Given the description of an element on the screen output the (x, y) to click on. 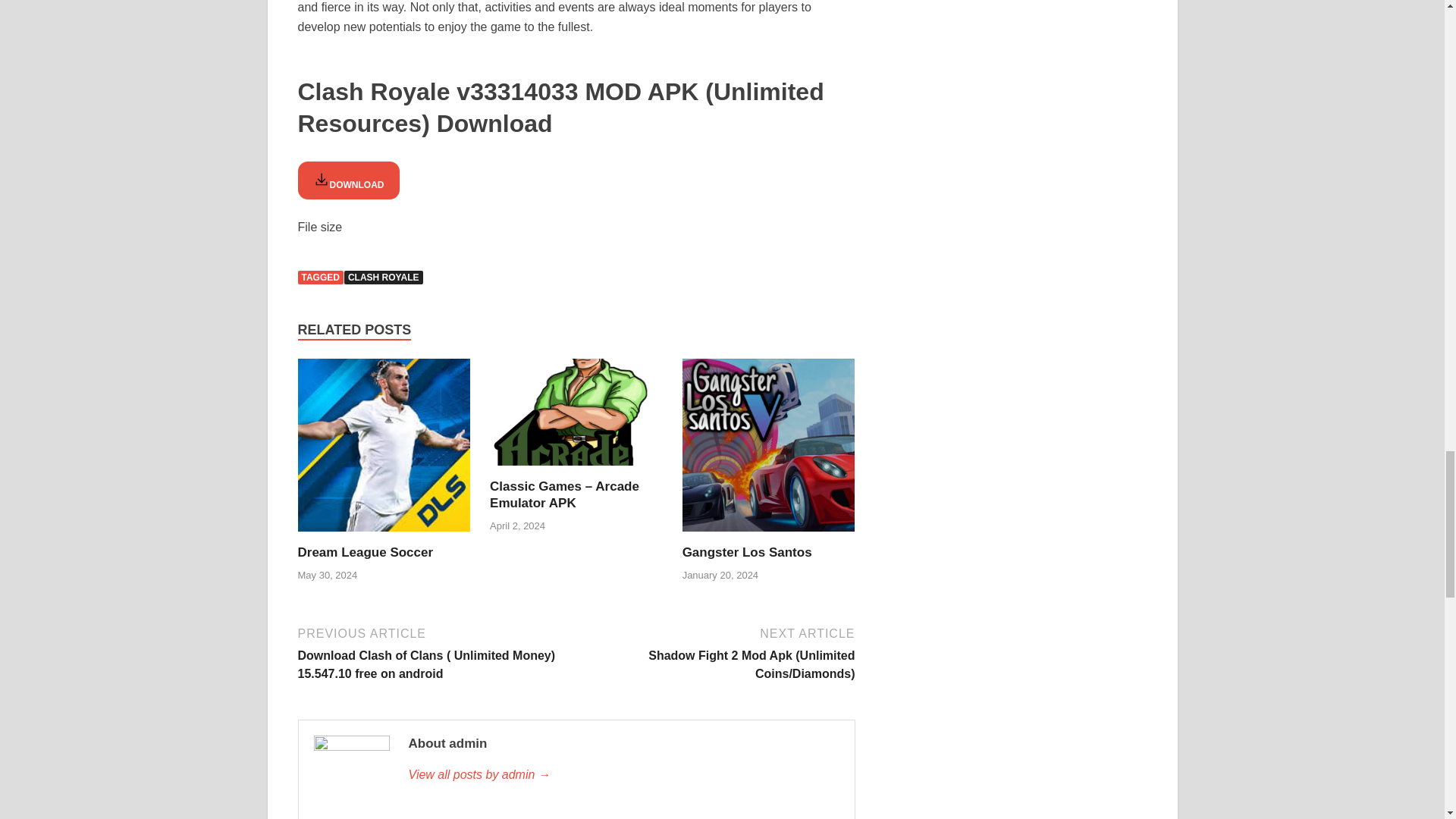
Gangster Los Santos (769, 450)
Dream League Soccer (383, 450)
Dream League Soccer (364, 552)
Download (347, 180)
CLASH ROYALE (383, 277)
Gangster Los Santos (747, 552)
Gangster Los Santos (747, 552)
Dream League Soccer (364, 552)
DOWNLOAD (347, 180)
